Given the description of an element on the screen output the (x, y) to click on. 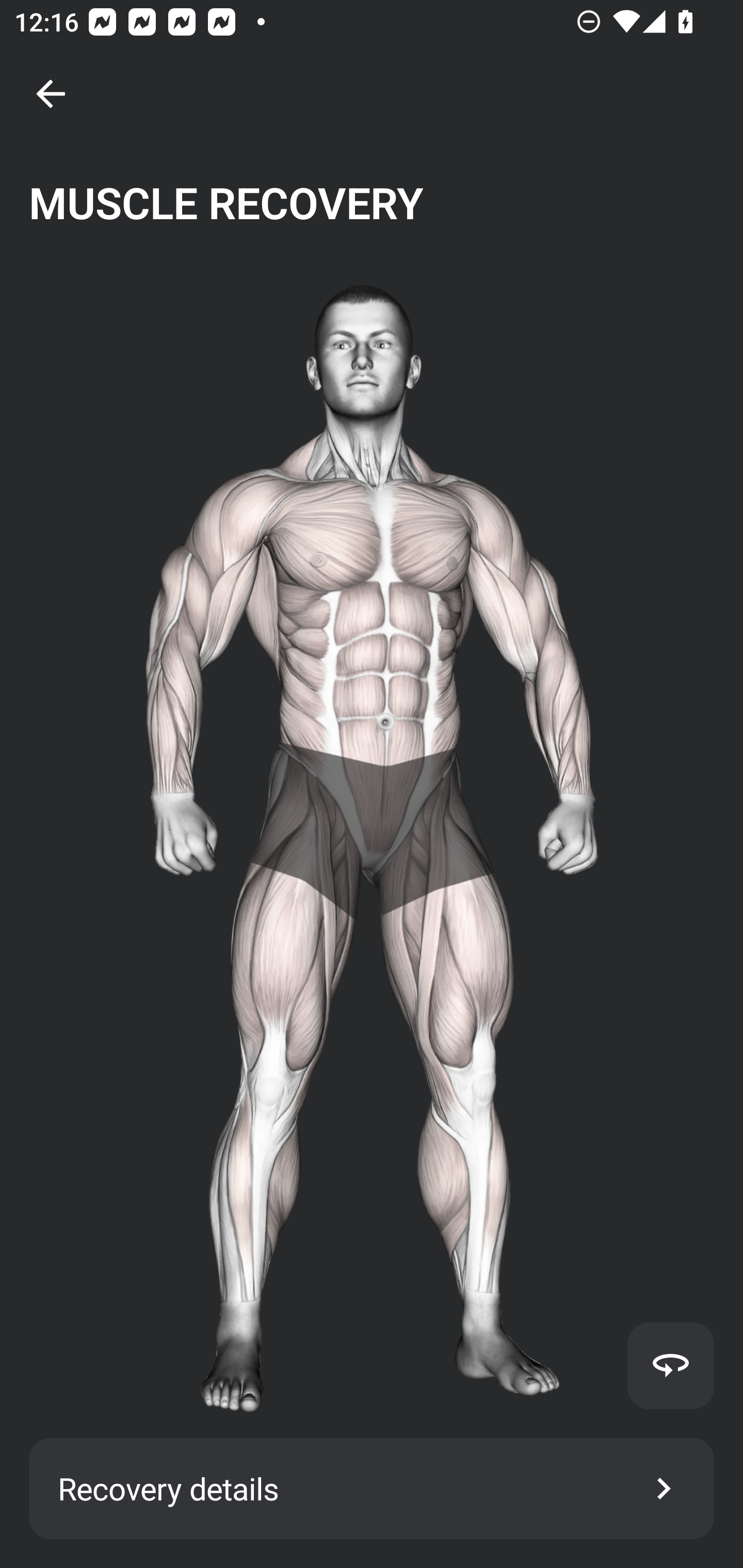
Back Icon (50, 93)
Turn icon (670, 1365)
Recovery details Next icon (371, 1488)
